Given the description of an element on the screen output the (x, y) to click on. 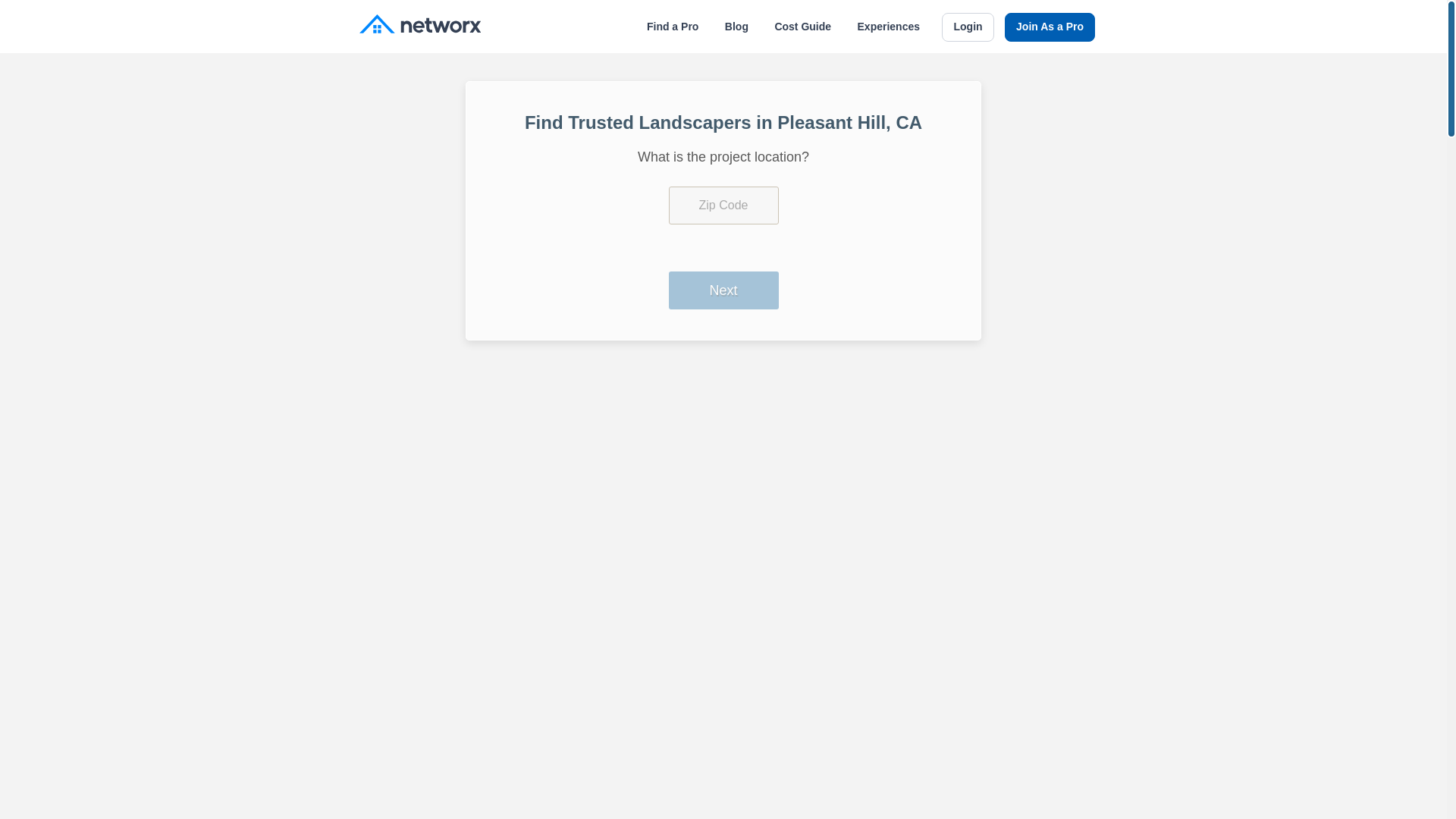
Login (967, 27)
Please enter a valid zip code (723, 205)
Experiences (888, 26)
Next (723, 290)
Cost Guide (802, 26)
Find a Pro (672, 26)
Join As a Pro (1049, 27)
Networx (419, 25)
